Given the description of an element on the screen output the (x, y) to click on. 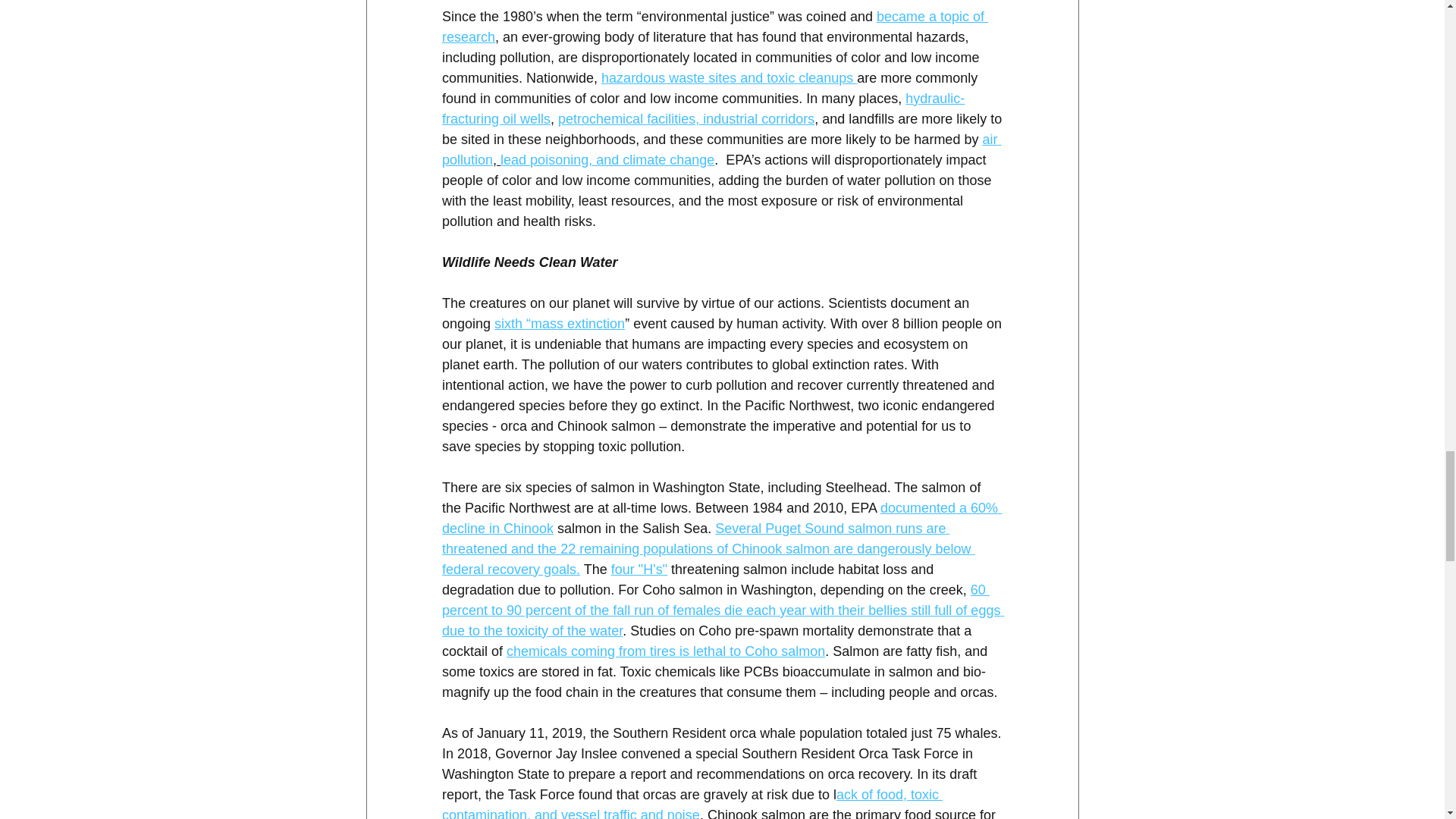
became a topic of research (714, 27)
air pollution (720, 149)
lead poisoning, and climate change (607, 159)
hazardous waste sites and toxic cleanups  (729, 77)
petrochemical facilities, industrial corridors (685, 118)
four "H's" (638, 569)
hydraulic-fracturing oil wells (702, 108)
chemicals coming from tires is lethal to Coho salmon (665, 651)
